Given the description of an element on the screen output the (x, y) to click on. 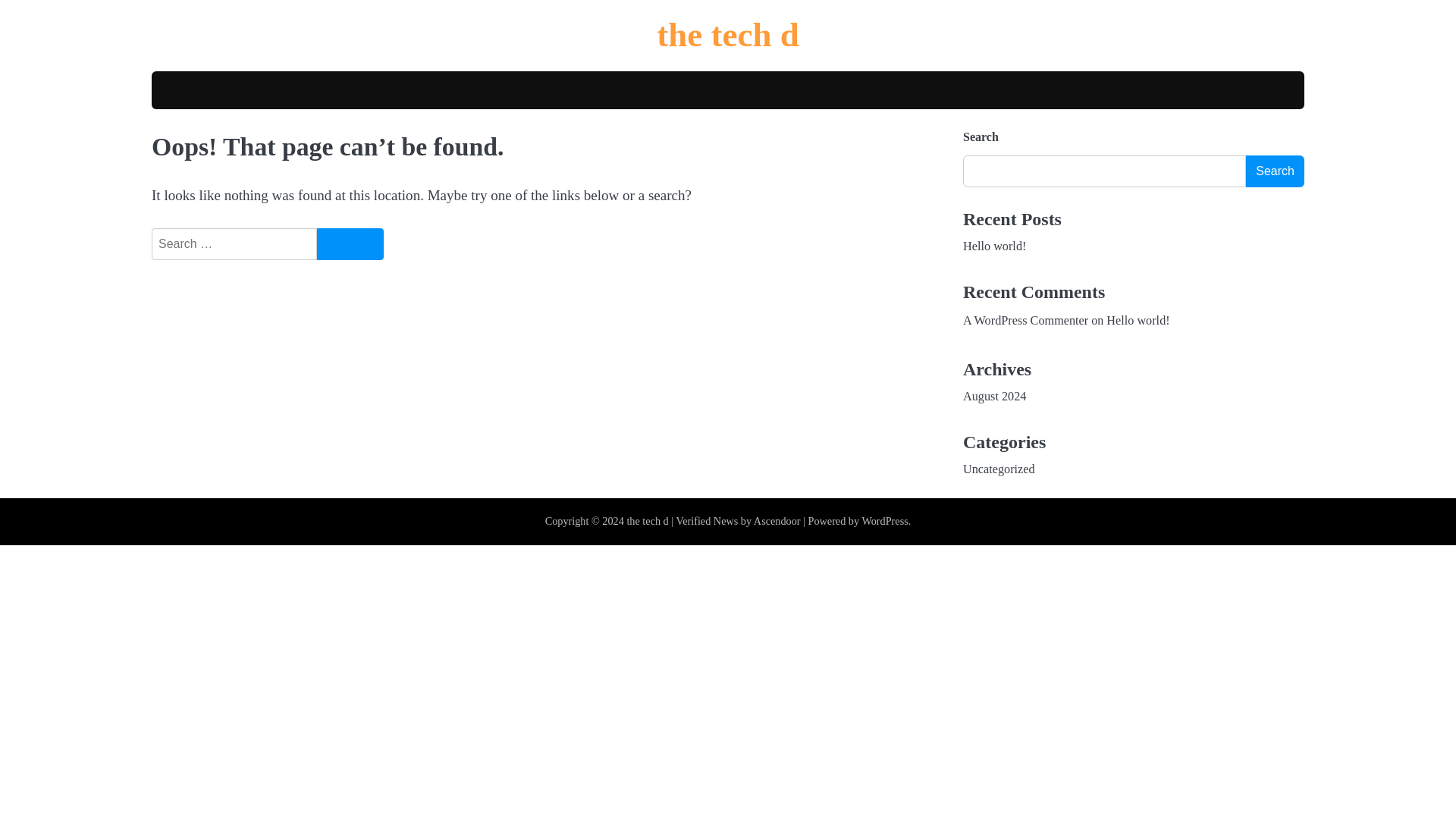
Search (350, 244)
Search (350, 244)
Ascendoor (777, 521)
Search (1275, 171)
Search (350, 244)
Uncategorized (998, 468)
Hello world! (994, 246)
the tech d (647, 521)
August 2024 (994, 396)
Hello world! (1137, 320)
